Given the description of an element on the screen output the (x, y) to click on. 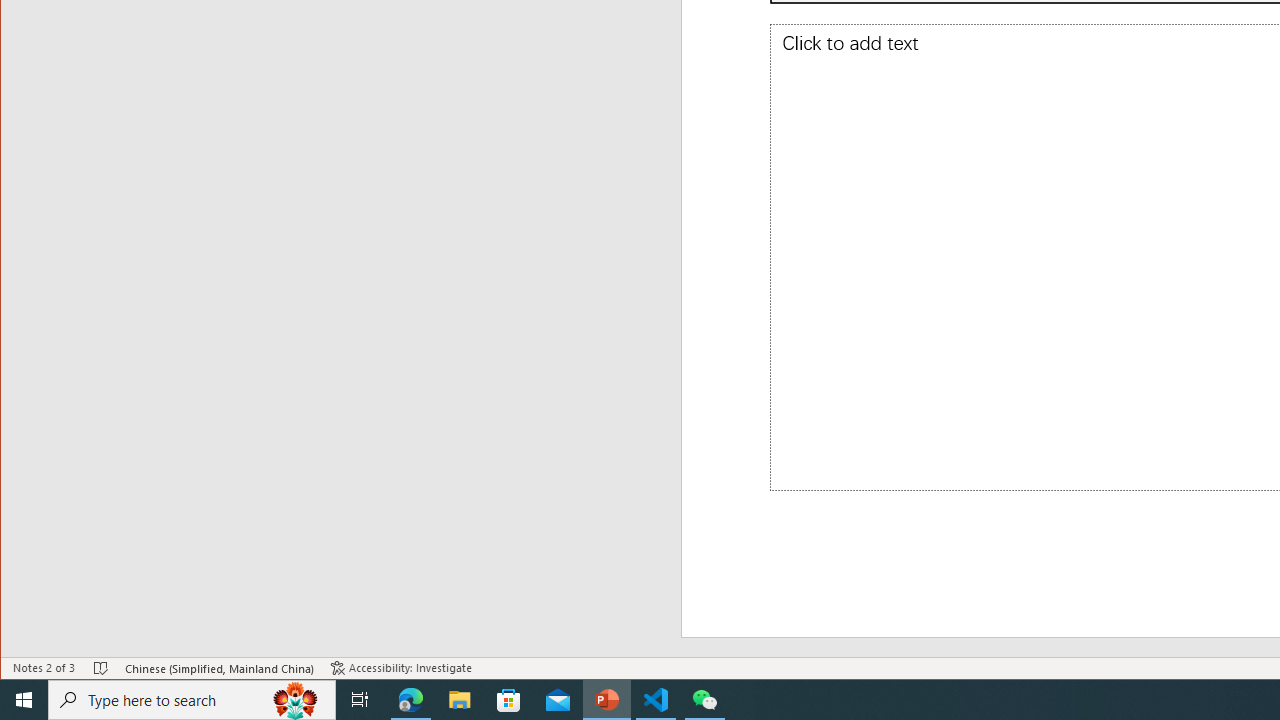
Microsoft Edge - 1 running window (411, 699)
WeChat - 1 running window (704, 699)
